Given the description of an element on the screen output the (x, y) to click on. 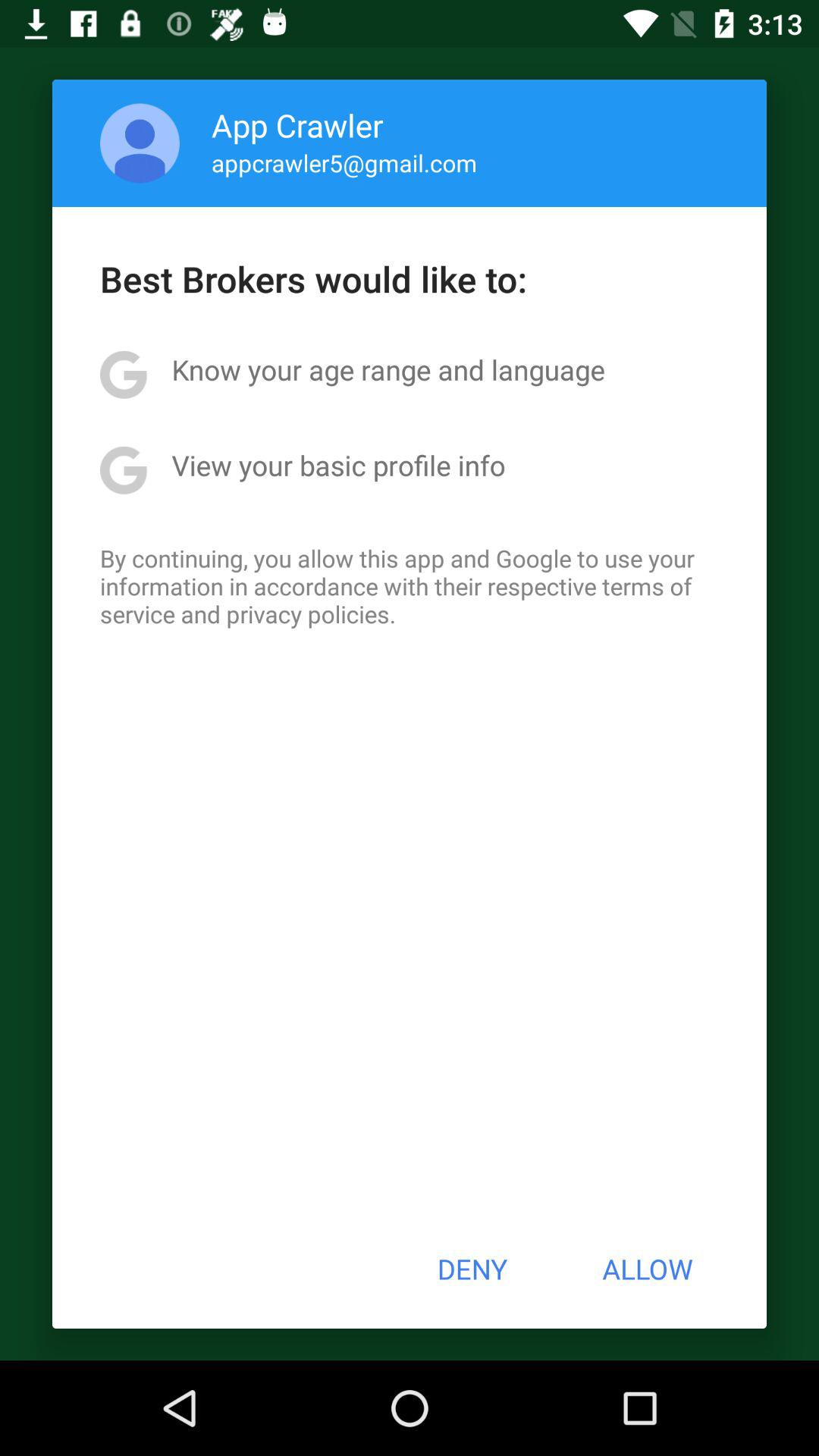
turn off item at the bottom (471, 1268)
